Given the description of an element on the screen output the (x, y) to click on. 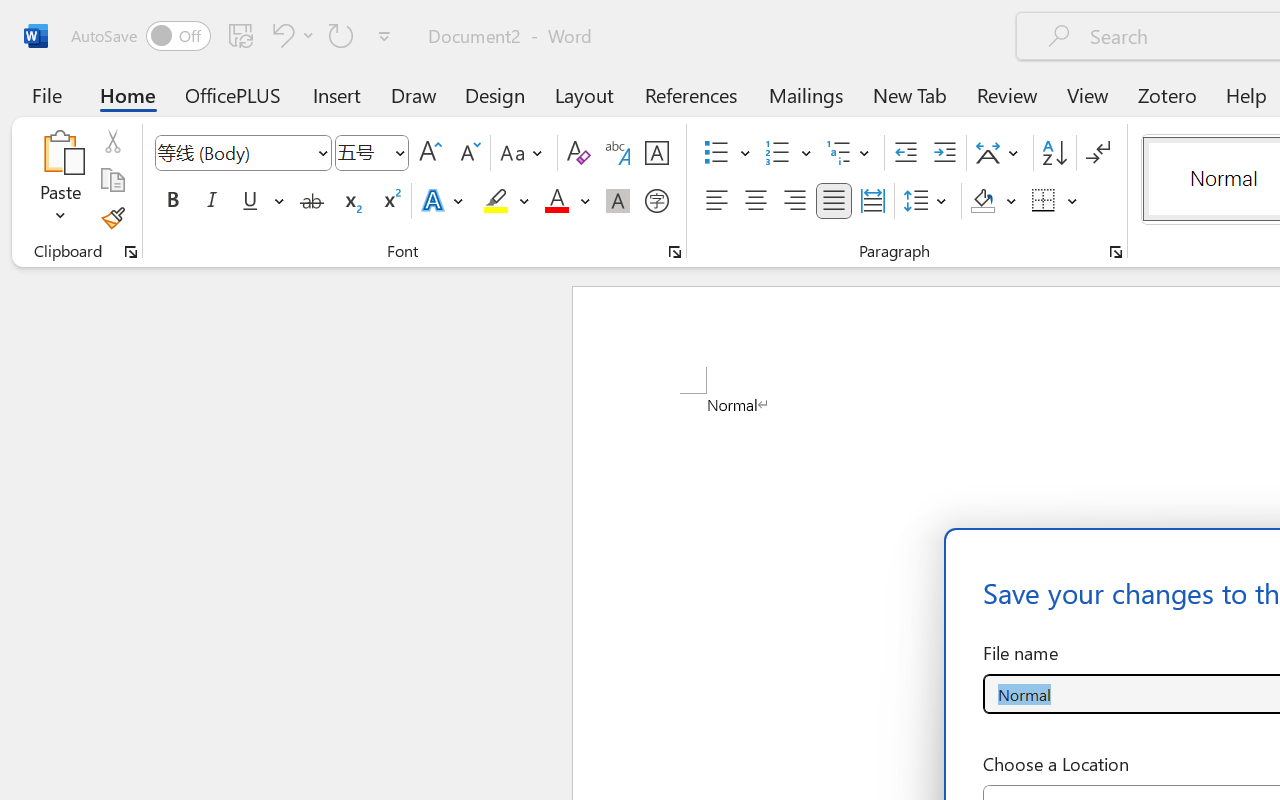
Paragraph... (1115, 252)
Quick Access Toolbar (233, 36)
Justify (834, 201)
Distributed (872, 201)
Superscript (390, 201)
Strikethrough (312, 201)
More Options (1073, 201)
Save (241, 35)
Bold (172, 201)
Show/Hide Editing Marks (1098, 153)
Numbering (788, 153)
Cut (112, 141)
Italic (212, 201)
Align Right (794, 201)
